Given the description of an element on the screen output the (x, y) to click on. 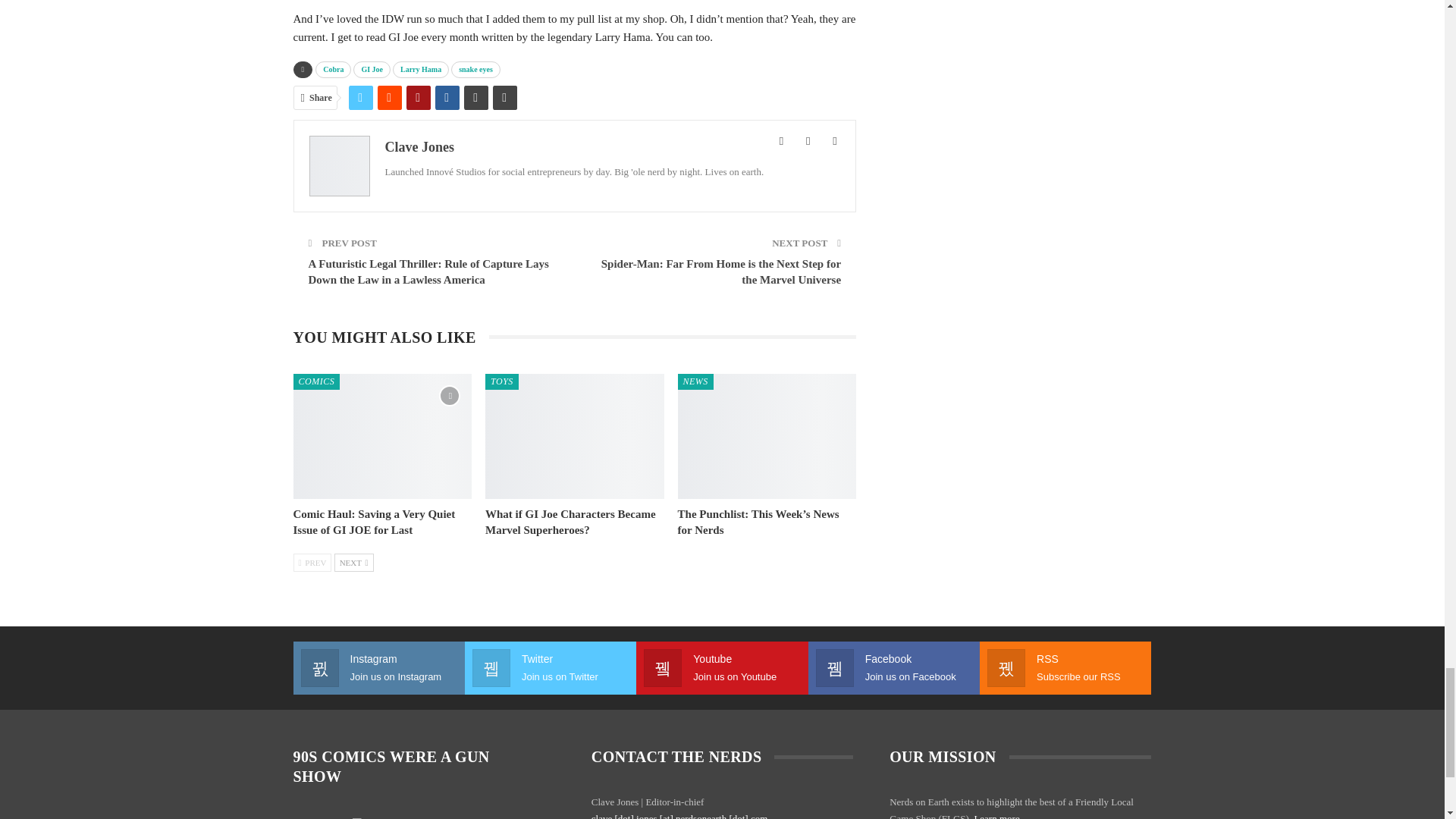
Next (354, 562)
Comic Haul: Saving a Very Quiet Issue of GI JOE for Last (373, 521)
Comic Haul: Saving a Very Quiet Issue of GI JOE for Last (381, 435)
What if GI Joe Characters Became Marvel Superheroes? (570, 521)
Previous (311, 562)
What if GI Joe Characters Became Marvel Superheroes? (573, 435)
